Given the description of an element on the screen output the (x, y) to click on. 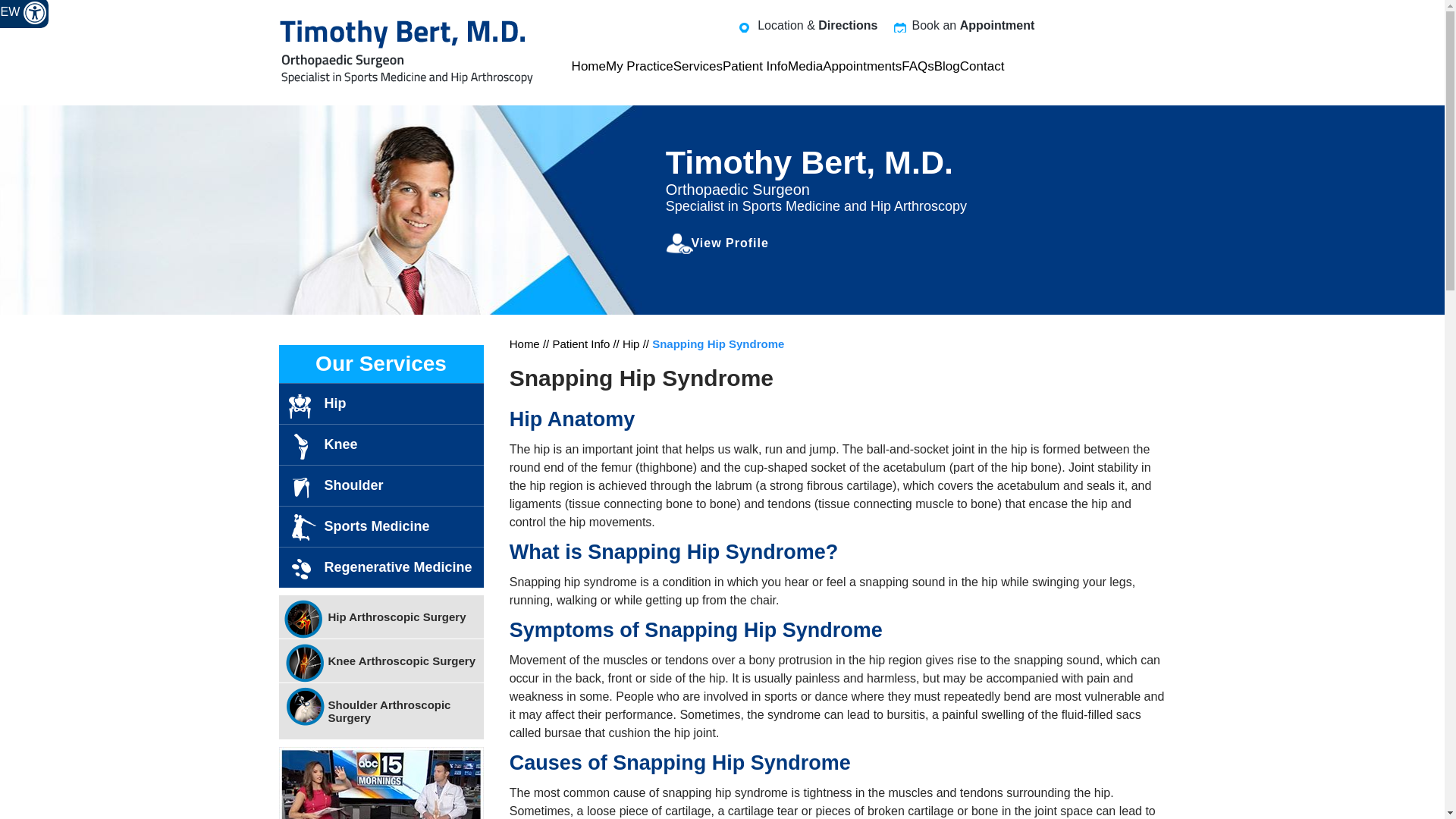
ACCESSIBILITY VIEW (24, 13)
Patient Info (754, 66)
Media (804, 66)
Appointments (861, 66)
Home (588, 66)
FAQs (917, 66)
Book an Appointment (964, 25)
Contact (981, 66)
My Practice (638, 66)
Services (697, 66)
